Given the description of an element on the screen output the (x, y) to click on. 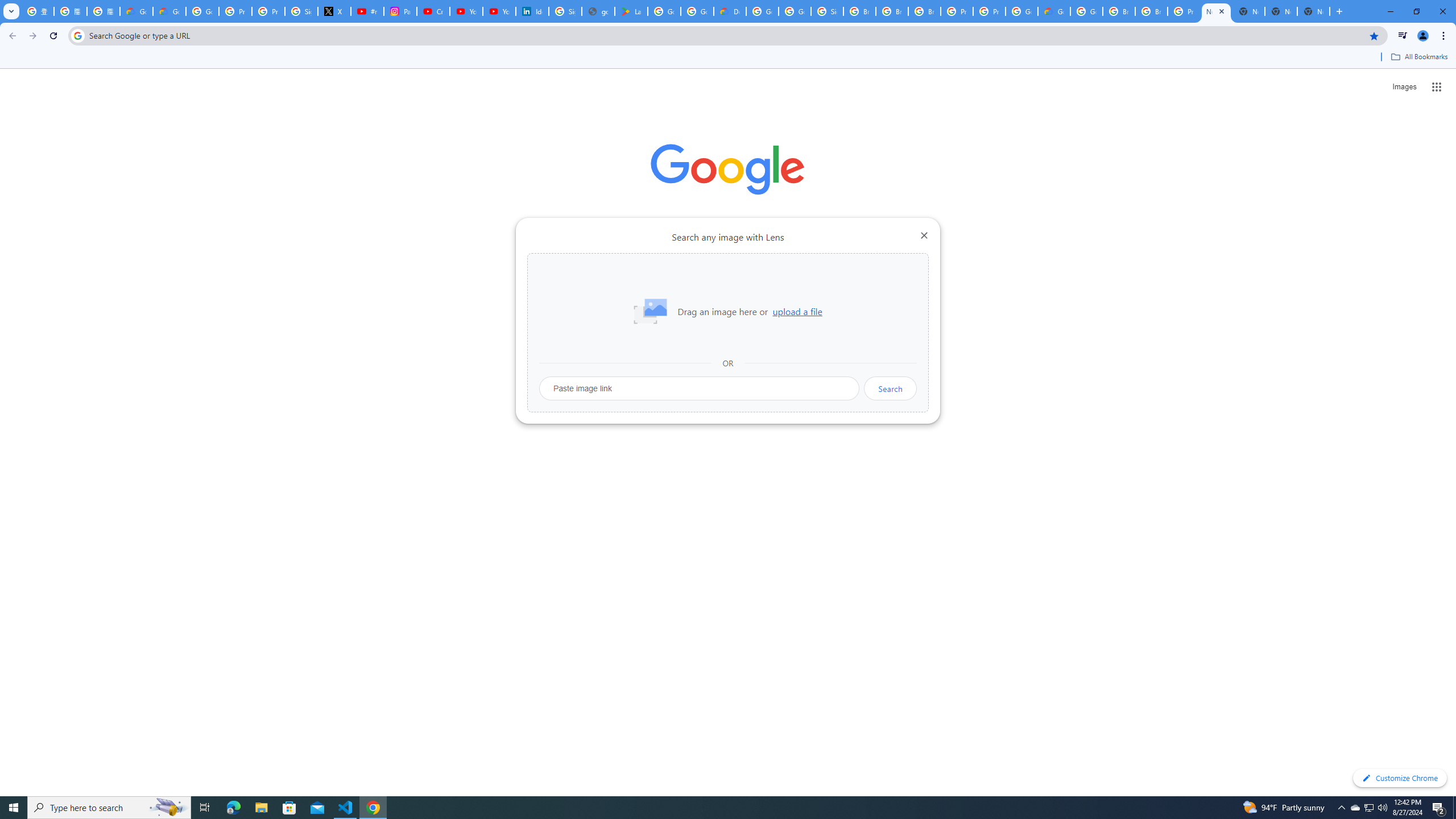
Google Cloud Privacy Notice (136, 11)
